Given the description of an element on the screen output the (x, y) to click on. 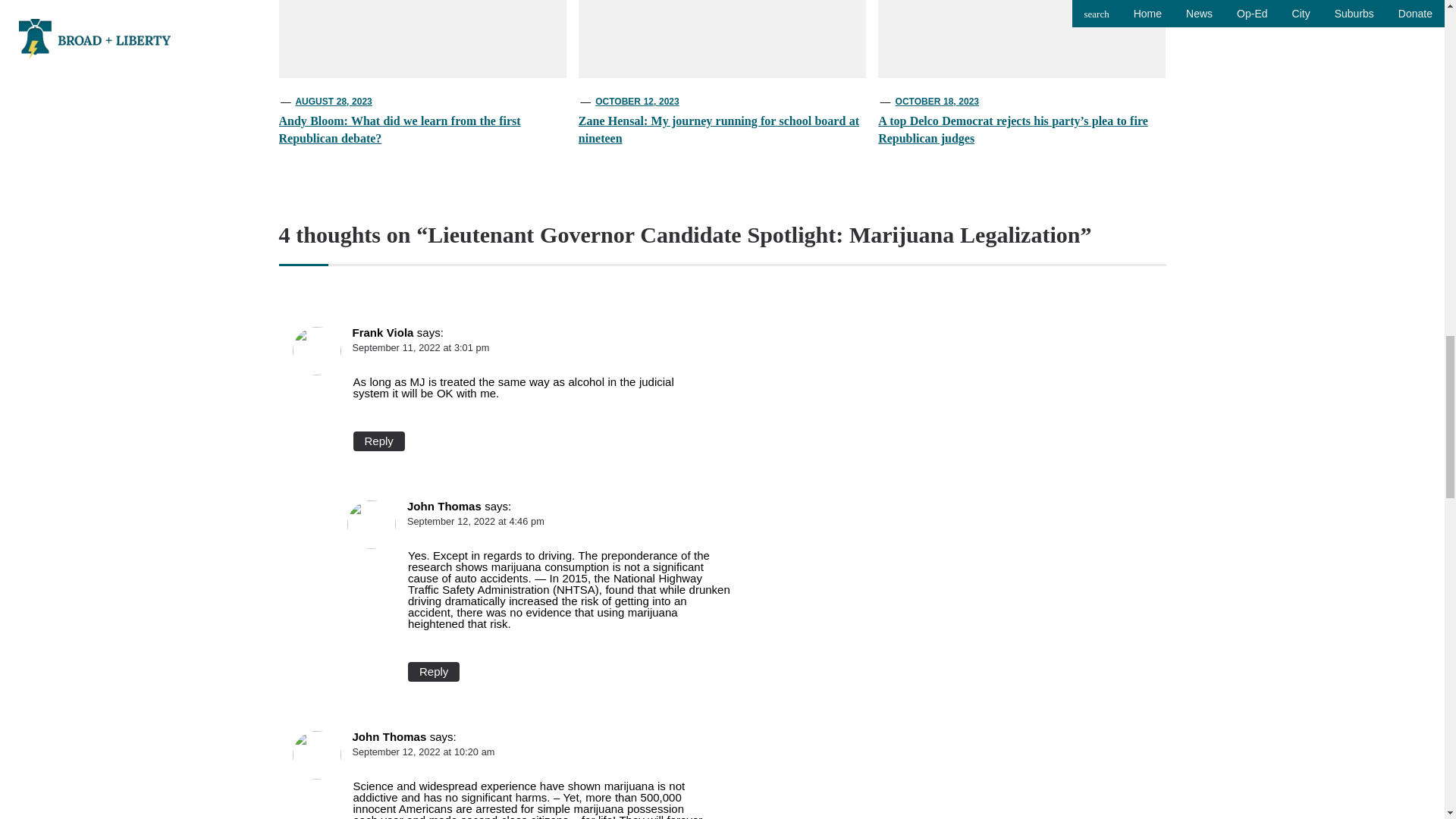
Zane Hensal: My journey running for school board at nineteen (718, 129)
AUGUST 28, 2023 (333, 101)
OCTOBER 12, 2023 (636, 101)
OCTOBER 18, 2023 (936, 101)
